Given the description of an element on the screen output the (x, y) to click on. 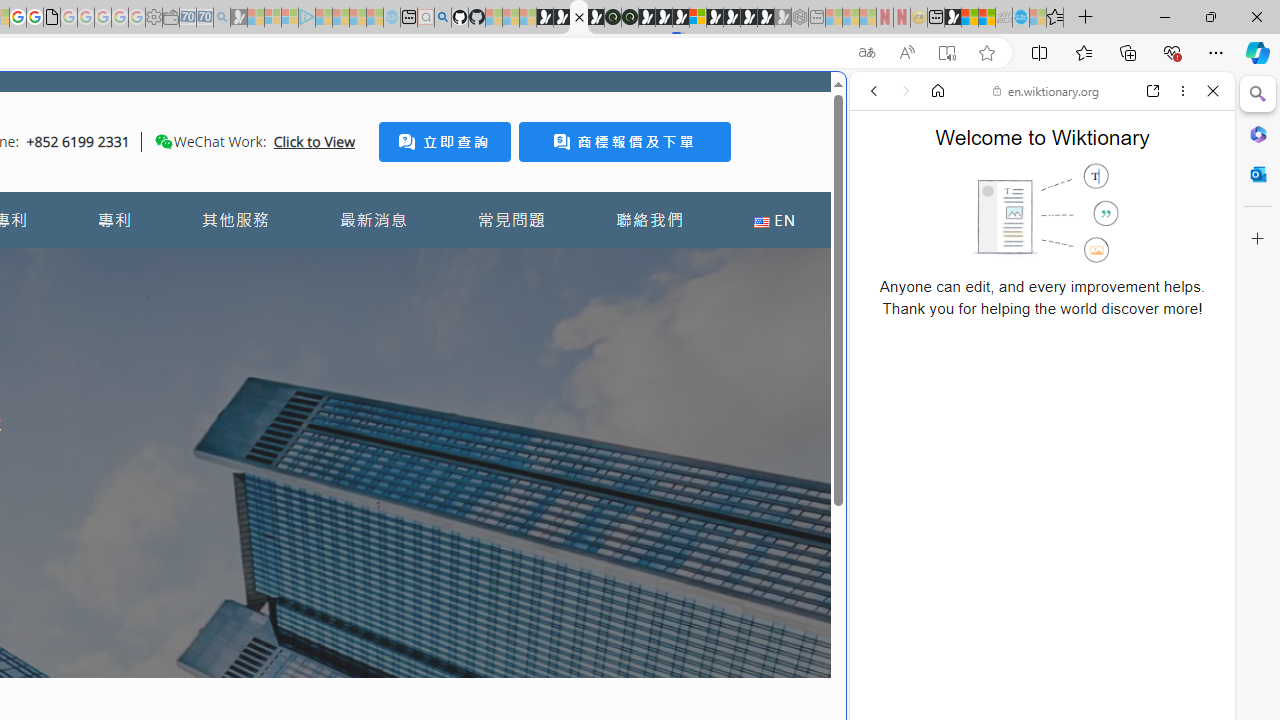
Tabs you've opened (276, 265)
github - Search (442, 17)
Future Focus Report 2024 (629, 17)
WEB   (882, 228)
Settings - Sleeping (153, 17)
Search the web (1051, 137)
